Given the description of an element on the screen output the (x, y) to click on. 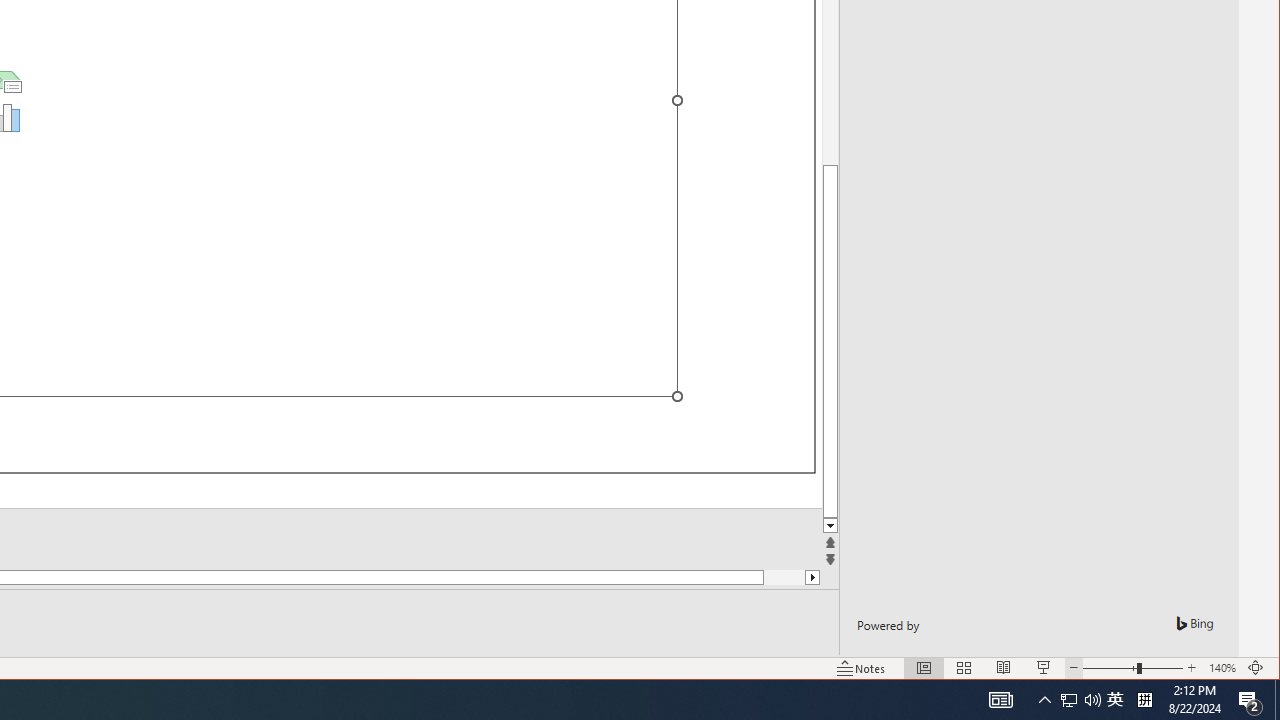
Page down (764, 577)
Zoom 140% (1222, 668)
Q2790: 100% (1092, 699)
Line down (829, 525)
